Given the description of an element on the screen output the (x, y) to click on. 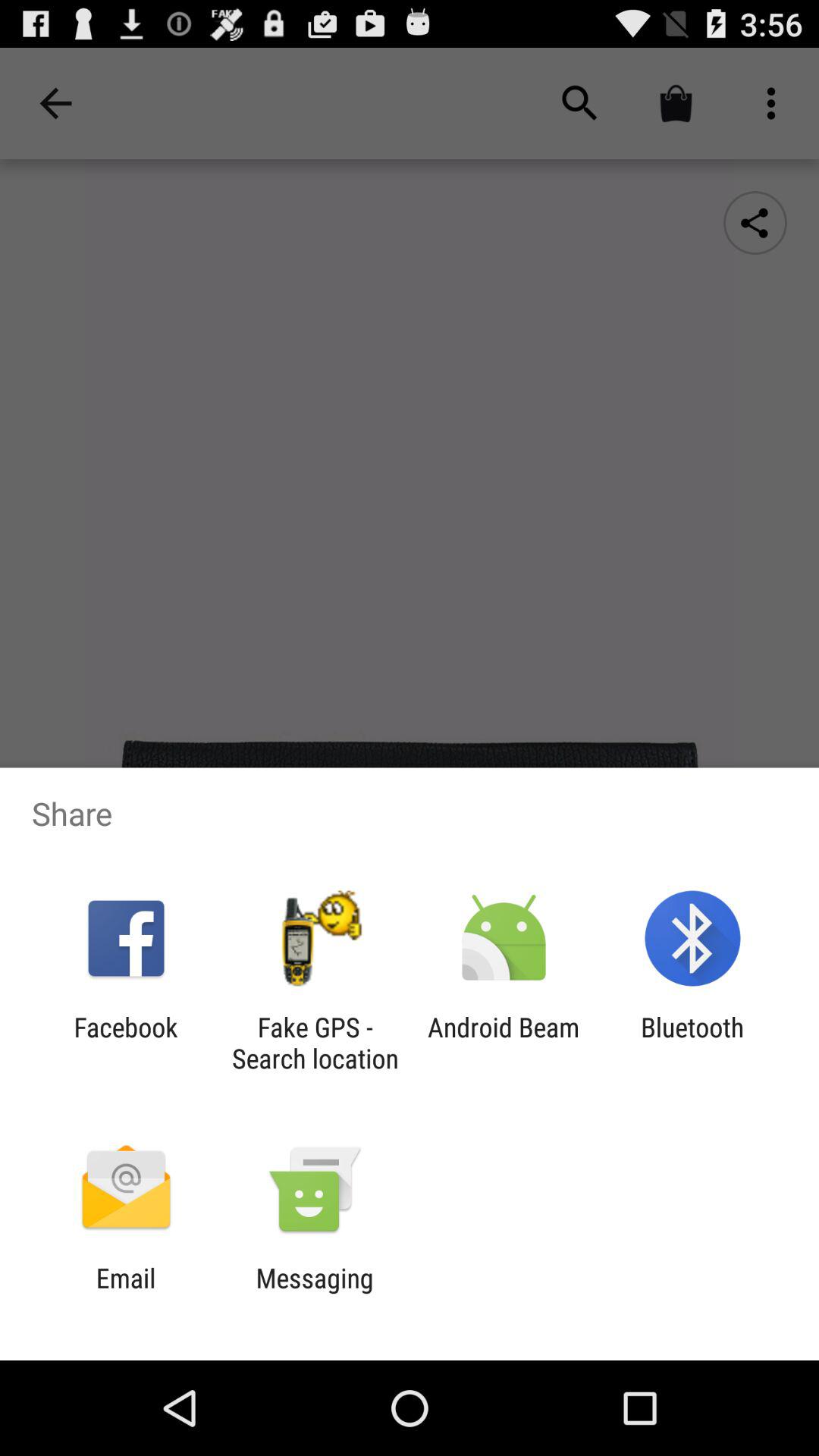
launch the item next to the fake gps search app (503, 1042)
